Given the description of an element on the screen output the (x, y) to click on. 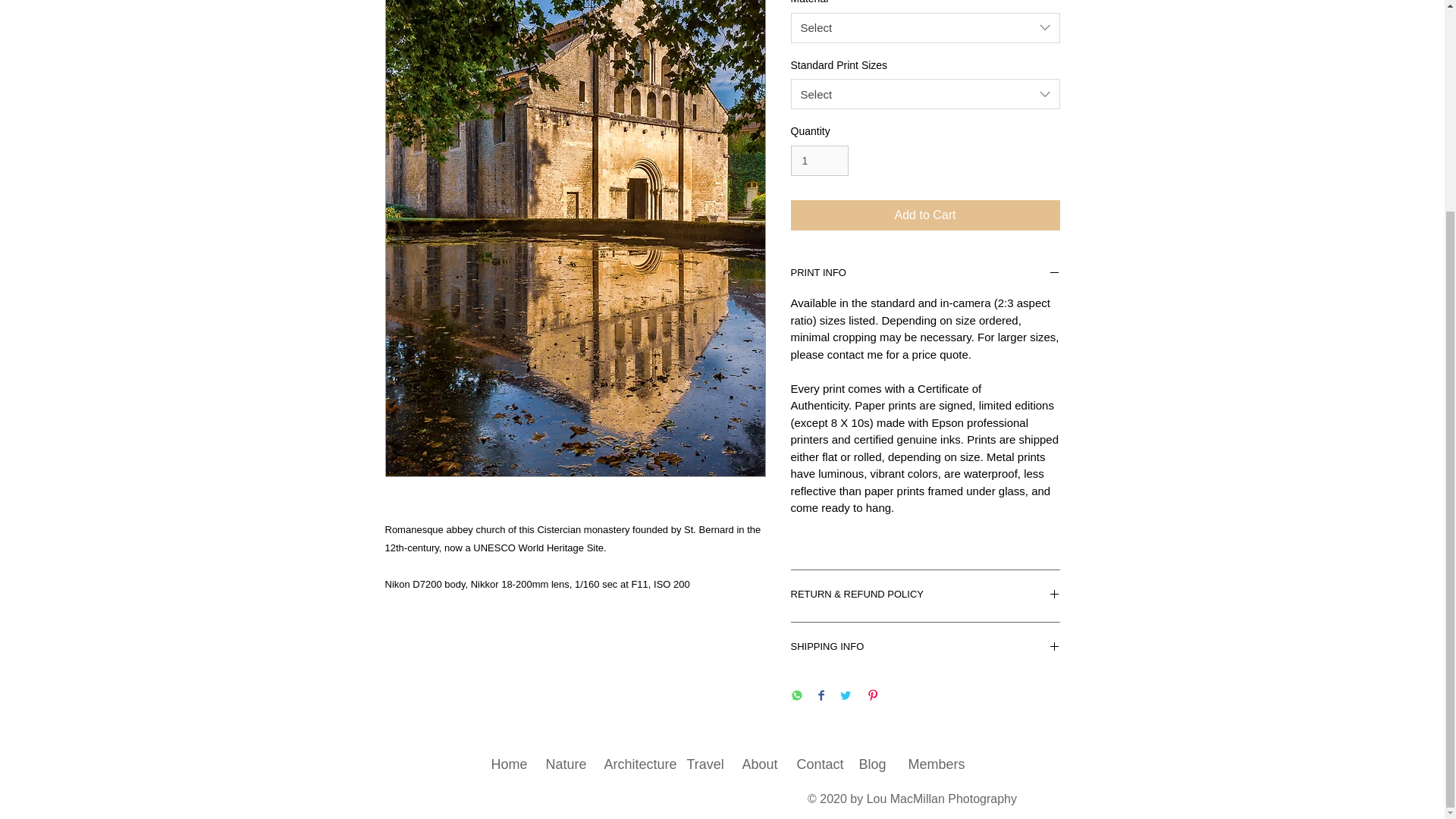
SHIPPING INFO (924, 648)
Blog (870, 764)
Select (924, 93)
Add to Cart (924, 214)
Select (924, 28)
Home (504, 764)
PRINT INFO (924, 273)
1 (818, 160)
Travel (700, 764)
About (756, 764)
Architecture (632, 764)
Members (929, 764)
Contact (814, 764)
Nature (561, 764)
